Given the description of an element on the screen output the (x, y) to click on. 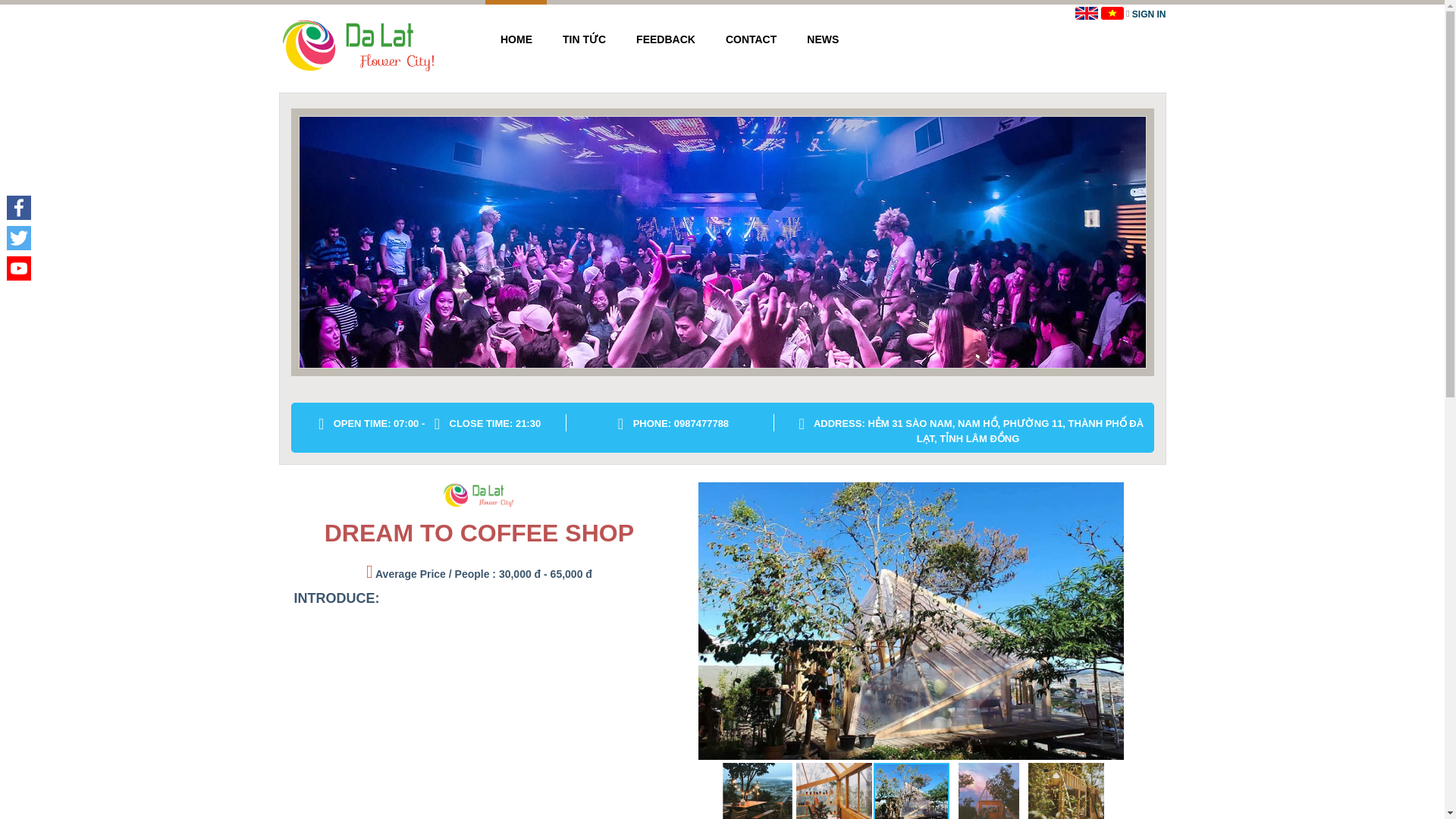
FEEDBACK (665, 39)
Twitter (18, 237)
Facebook (18, 207)
SIGN IN (1149, 14)
CONTACT (751, 39)
